Given the description of an element on the screen output the (x, y) to click on. 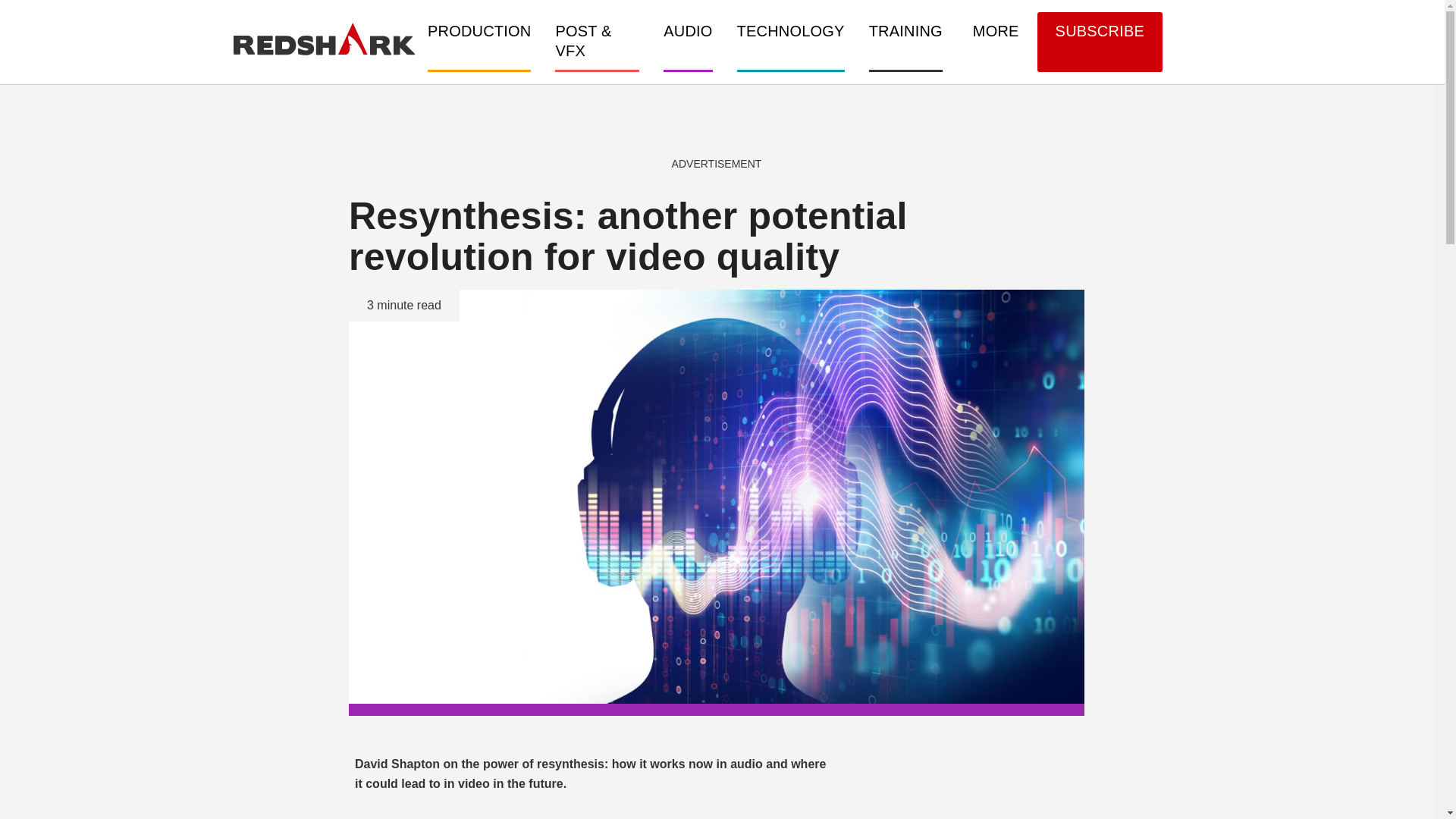
SUBSCRIBE (1099, 42)
TRAINING (905, 40)
PRODUCTION (479, 40)
red-shark-logo (323, 38)
TECHNOLOGY (790, 40)
3rd party ad content (716, 121)
